Given the description of an element on the screen output the (x, y) to click on. 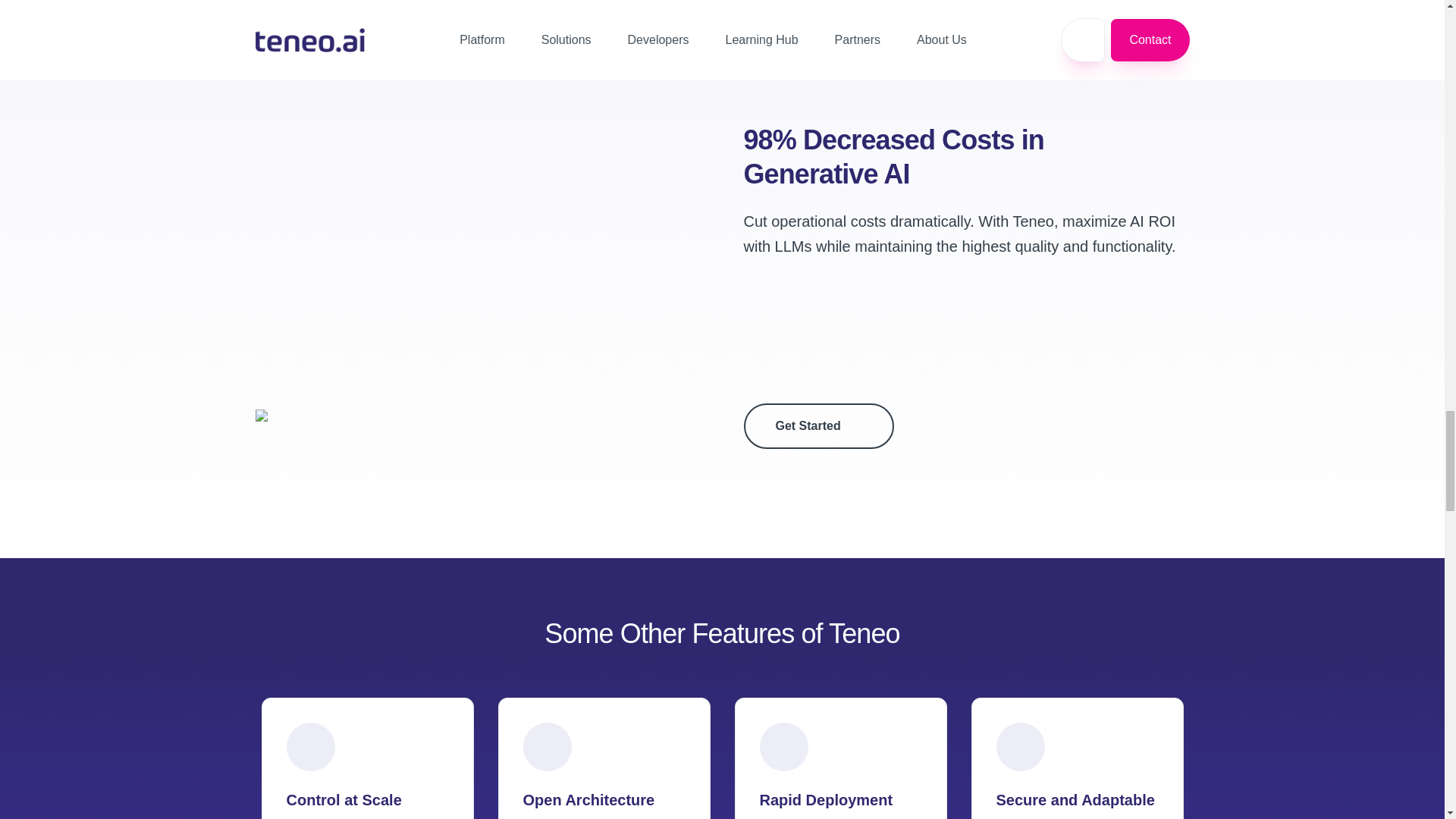
Get Started (817, 425)
